Given the description of an element on the screen output the (x, y) to click on. 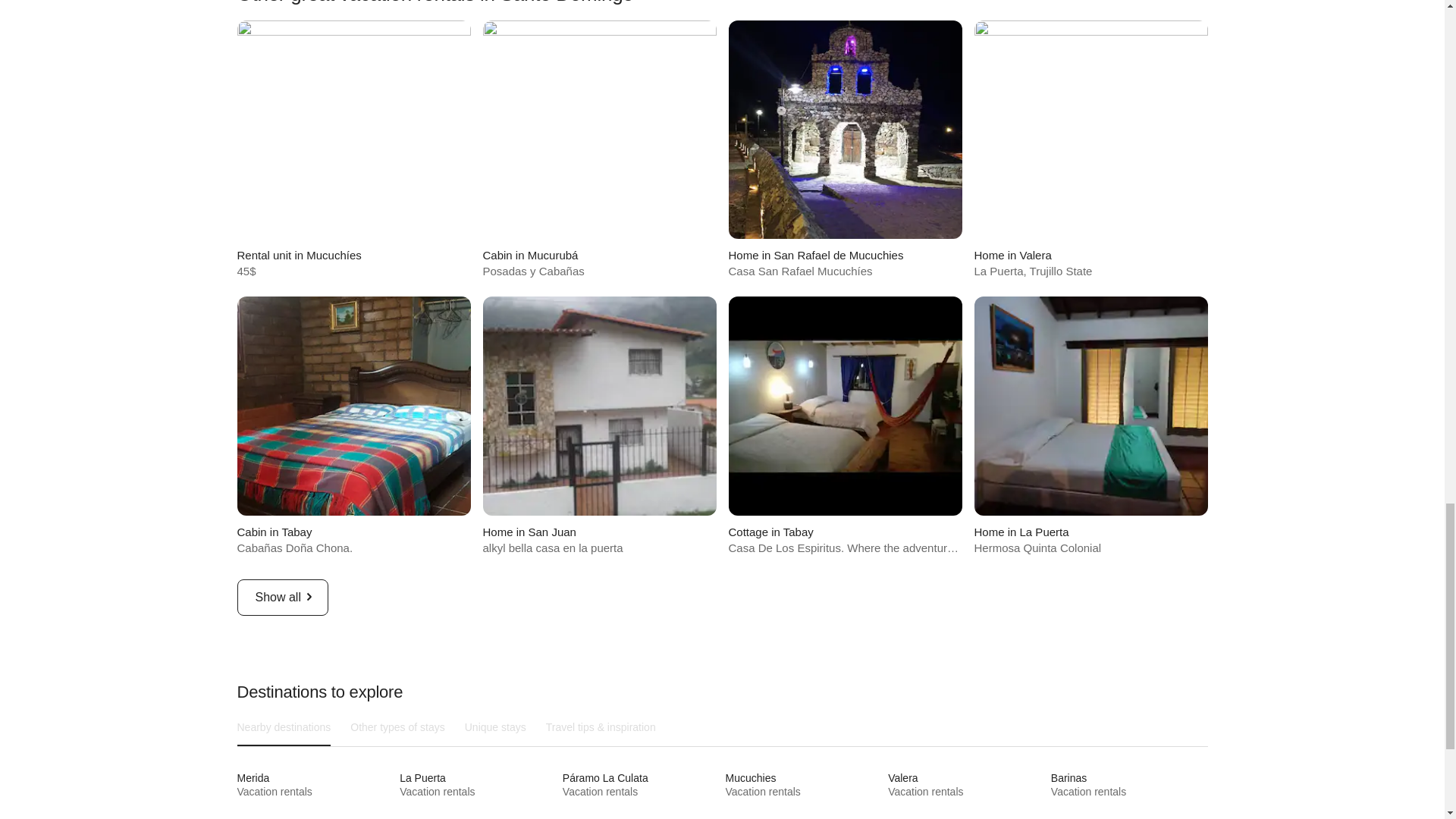
Nearby destinations (1090, 149)
Other types of stays (598, 425)
Show all (282, 727)
